Given the description of an element on the screen output the (x, y) to click on. 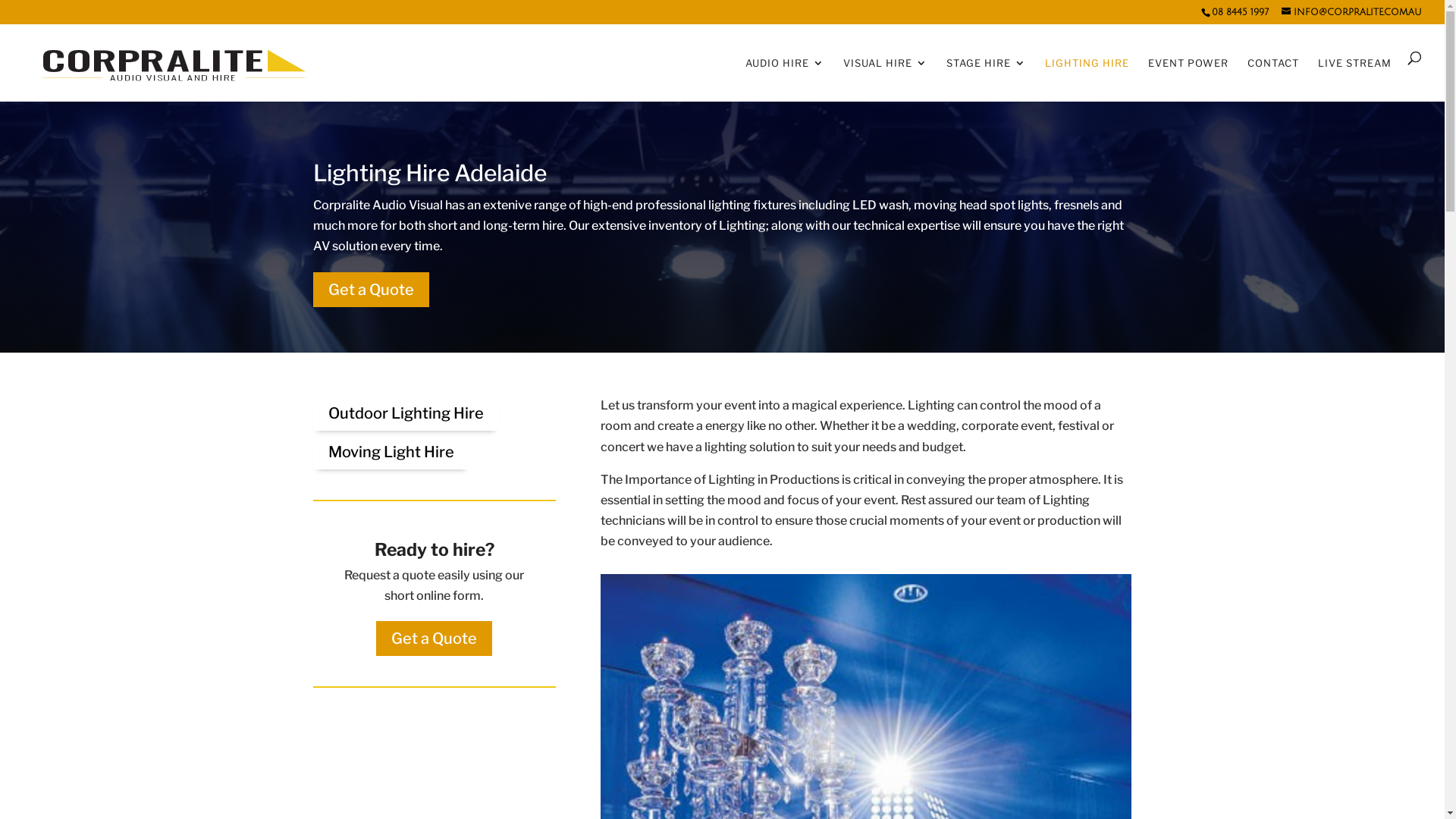
Outdoor Lighting Hire Element type: text (405, 412)
CONTACT Element type: text (1273, 76)
LIVE STREAM Element type: text (1354, 76)
STAGE HIRE Element type: text (986, 76)
08 8445 1997 Element type: text (1239, 12)
EVENT POWER Element type: text (1188, 76)
LIGHTING HIRE Element type: text (1086, 76)
Get a Quote Element type: text (370, 289)
VISUAL HIRE Element type: text (885, 76)
Get a Quote Element type: text (434, 638)
AUDIO HIRE Element type: text (784, 76)
INFO@CORPRALITE.COM.AU Element type: text (1351, 12)
Moving Light Hire Element type: text (390, 451)
